Given the description of an element on the screen output the (x, y) to click on. 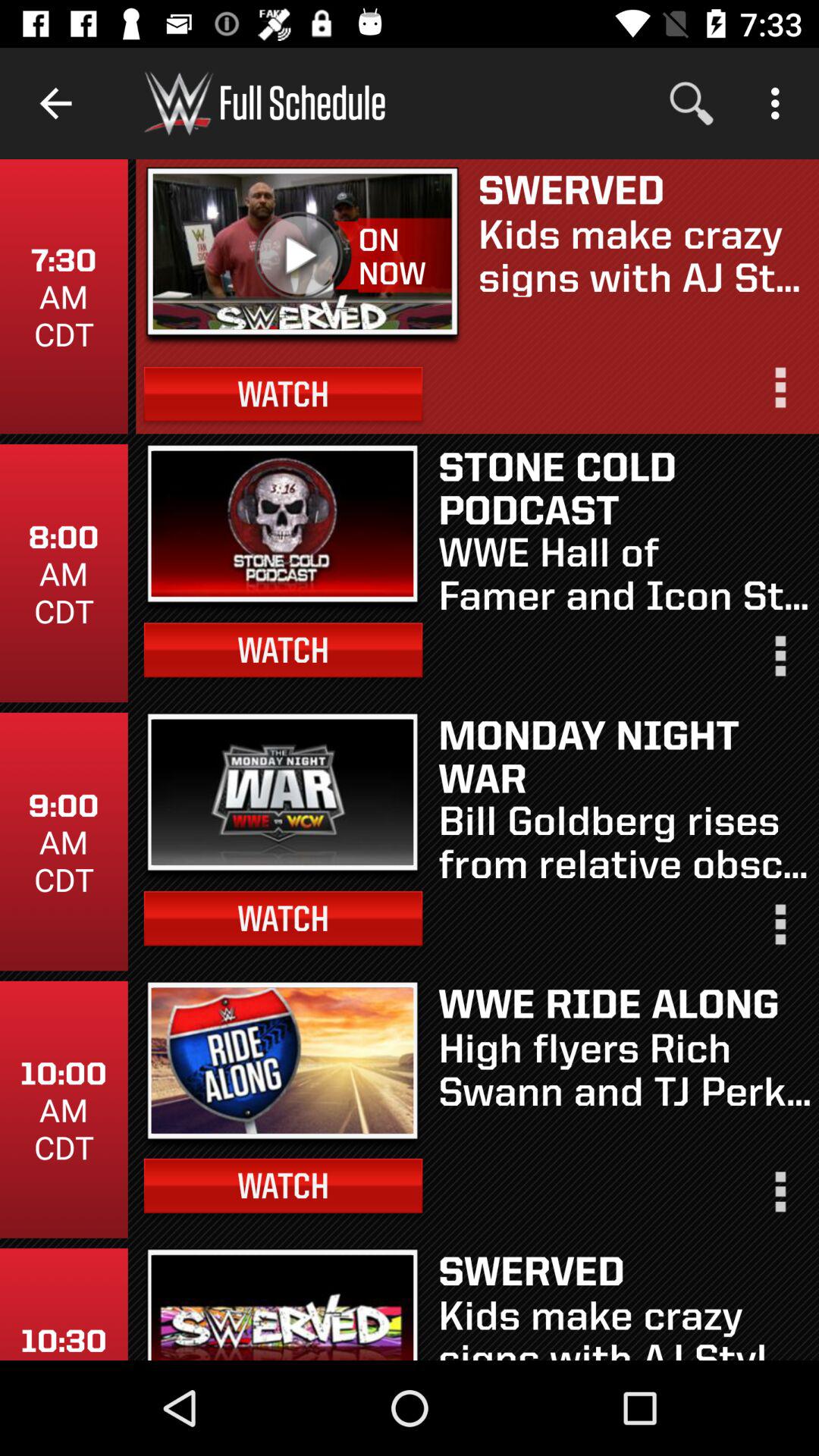
options to share (779, 1198)
